Given the description of an element on the screen output the (x, y) to click on. 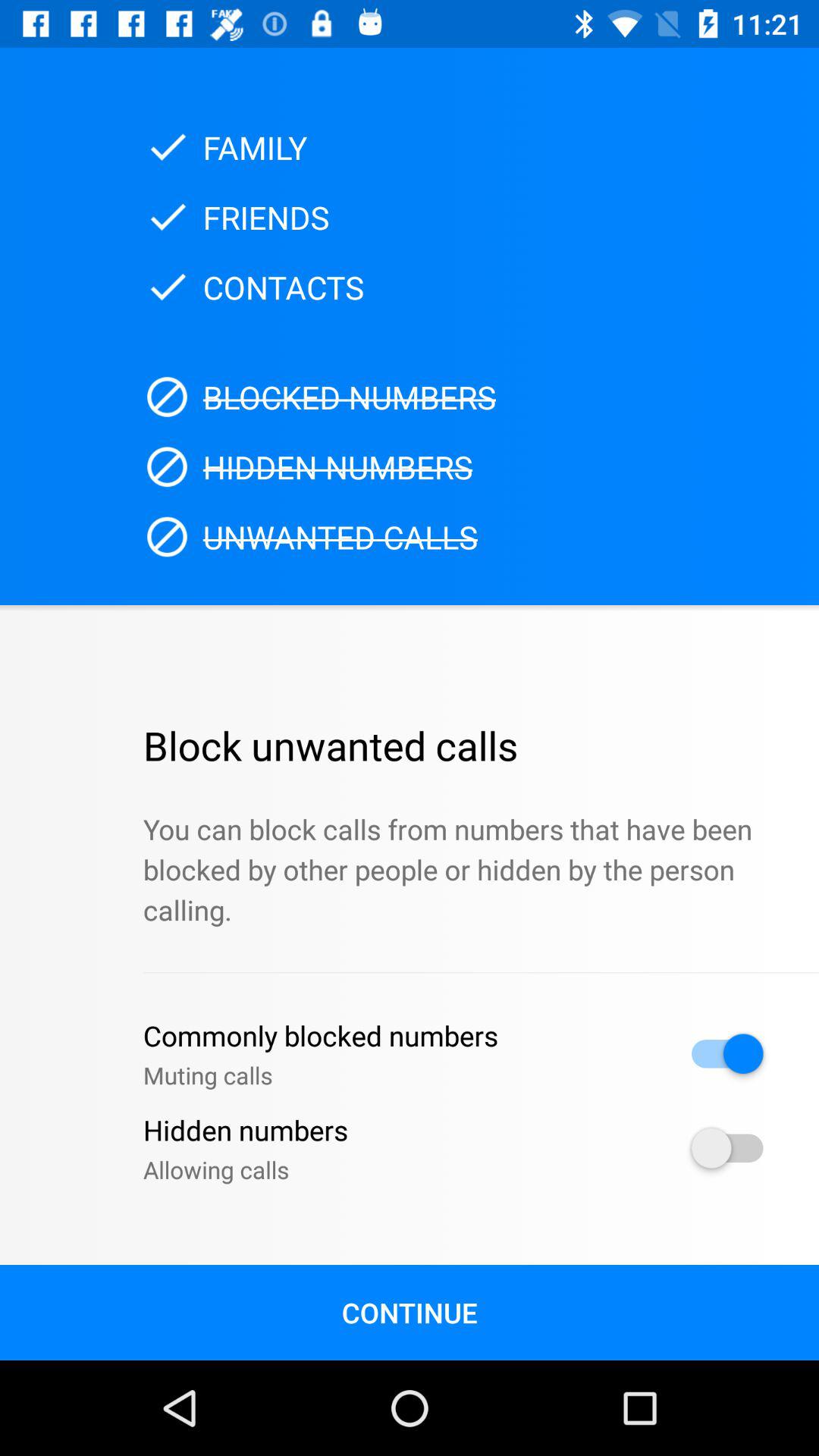
press the icon below allowing calls (409, 1312)
